Given the description of an element on the screen output the (x, y) to click on. 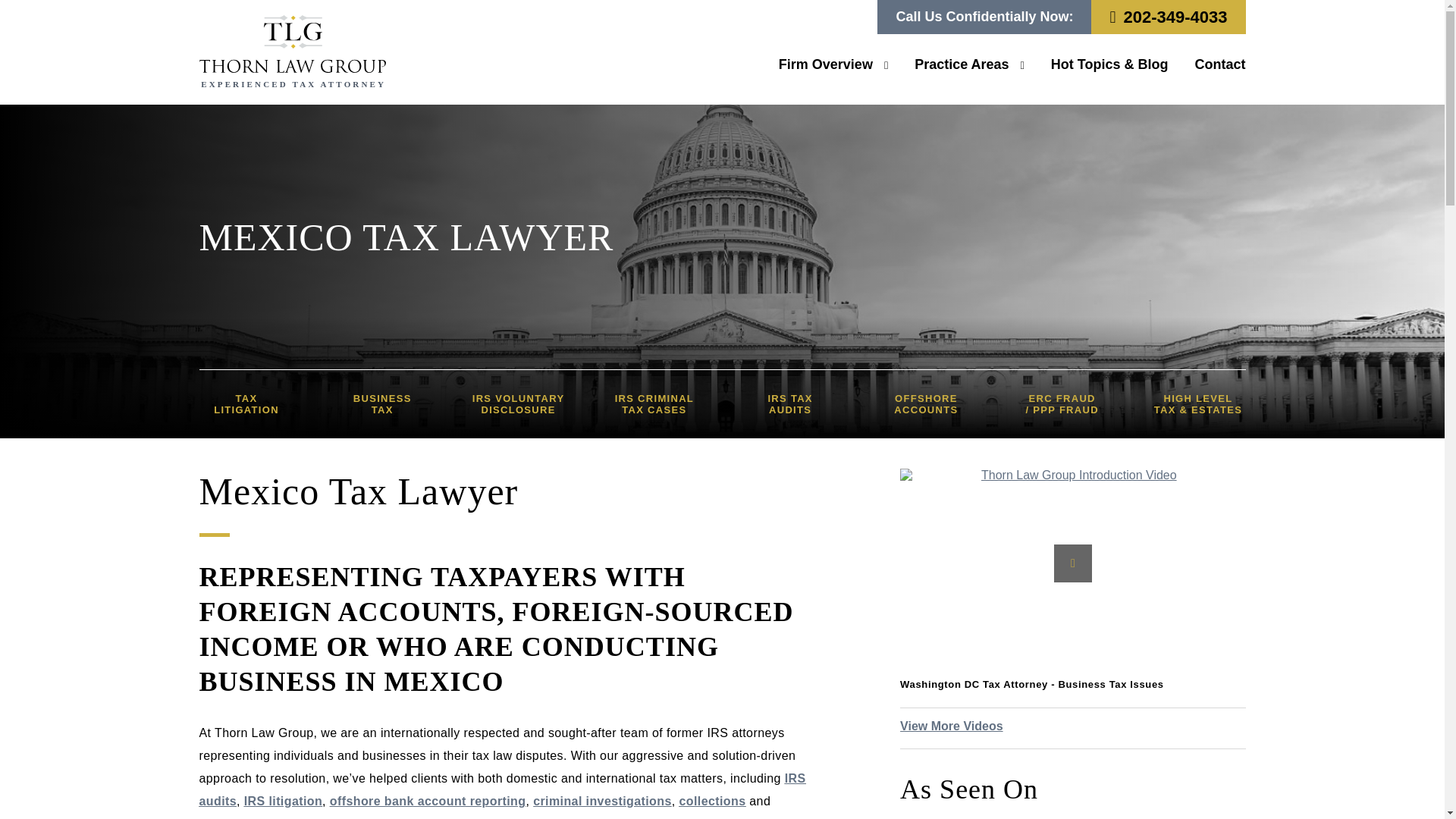
Practice Areas (969, 64)
Firm Overview (833, 64)
202-349-4033 (1167, 17)
